Given the description of an element on the screen output the (x, y) to click on. 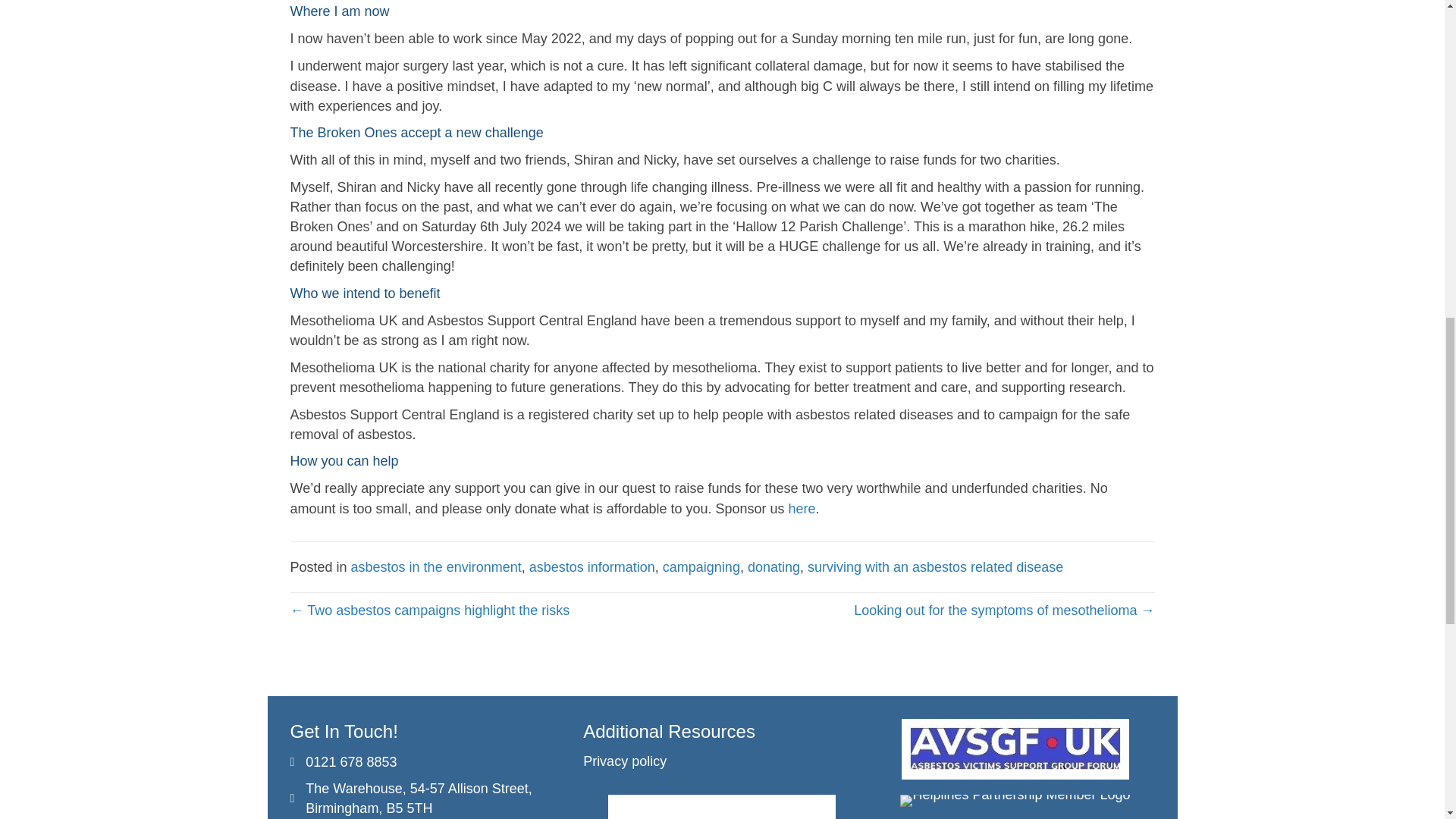
asbestos in the environment (435, 566)
MAPS Benevolent Trust logo (721, 806)
Privacy policy (624, 761)
0121 678 8853 (350, 762)
campaigning (700, 566)
Helplines Partnership Member Logo (1014, 800)
AVSGF Logo (1015, 749)
donating (773, 566)
surviving with an asbestos related disease (935, 566)
asbestos information (592, 566)
